Given the description of an element on the screen output the (x, y) to click on. 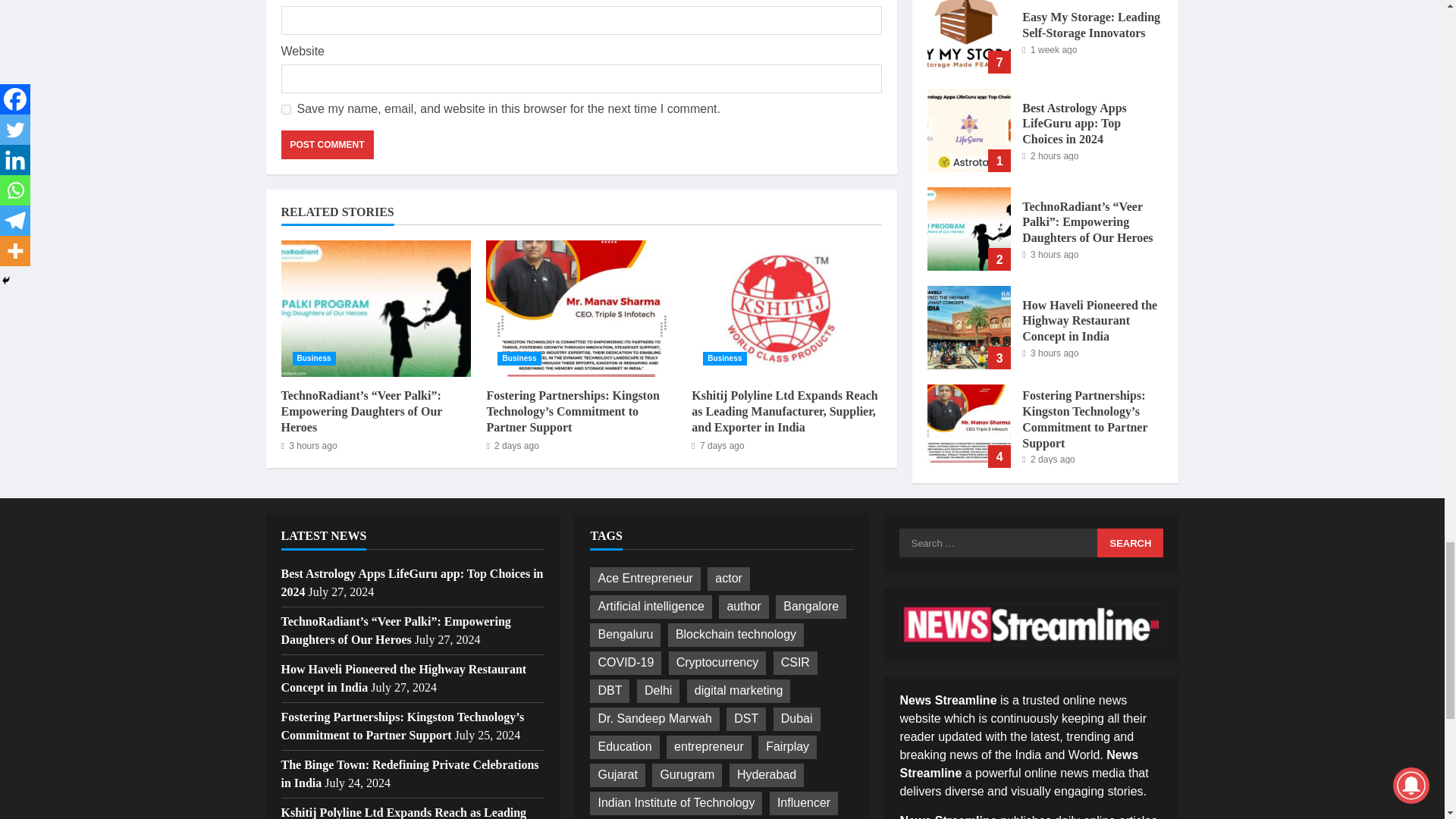
Post Comment (326, 144)
Search (1130, 542)
yes (285, 109)
Search (1130, 542)
